Given the description of an element on the screen output the (x, y) to click on. 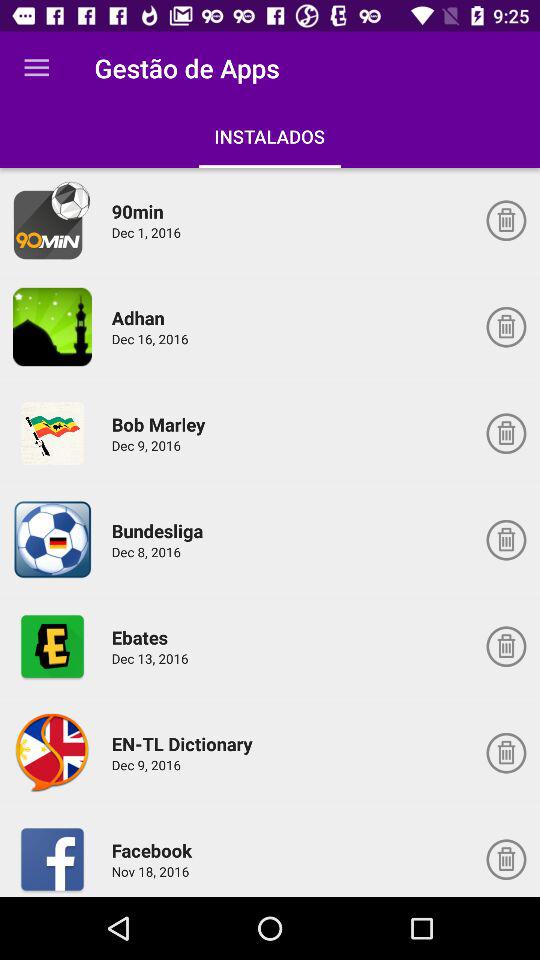
view the 90min app (52, 220)
